Given the description of an element on the screen output the (x, y) to click on. 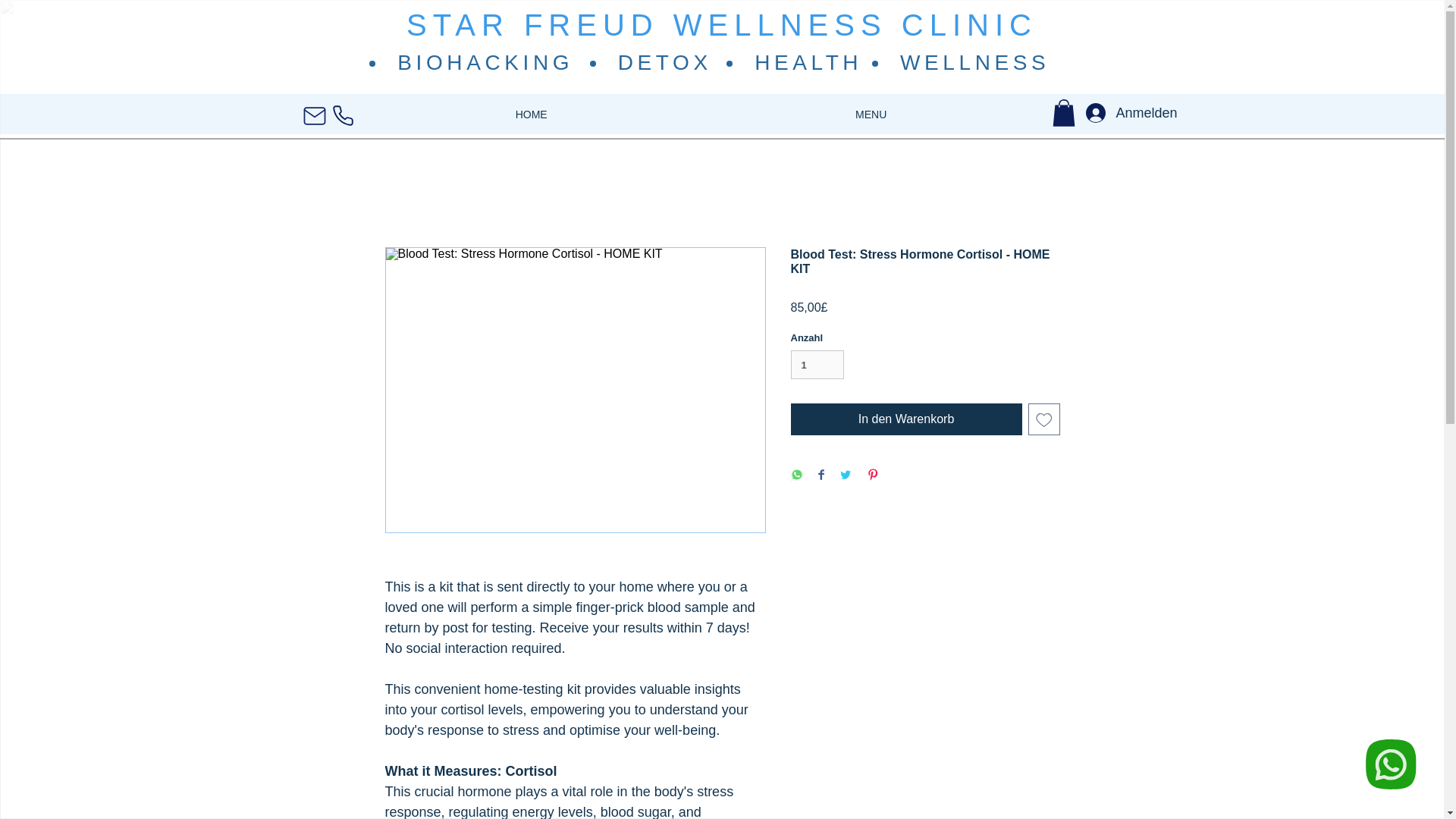
MENU (871, 114)
STAR FREUD WELLNESS CLINIC (721, 24)
1 (817, 364)
BIOHACKING (485, 62)
In den Warenkorb (906, 418)
DETOX (664, 62)
HEALTH (807, 62)
Anmelden (1116, 112)
WELLNESS (974, 62)
HOME (530, 114)
